Given the description of an element on the screen output the (x, y) to click on. 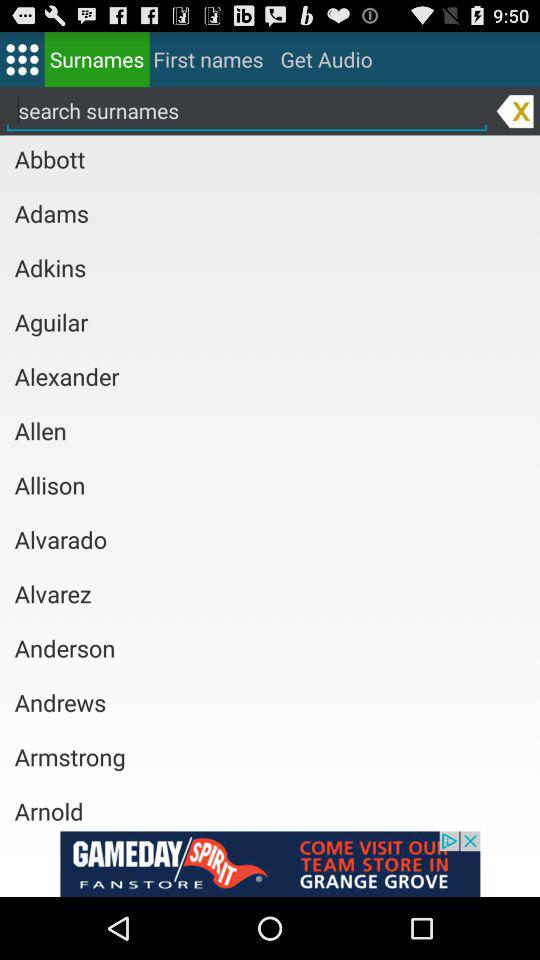
open main menu (22, 58)
